Given the description of an element on the screen output the (x, y) to click on. 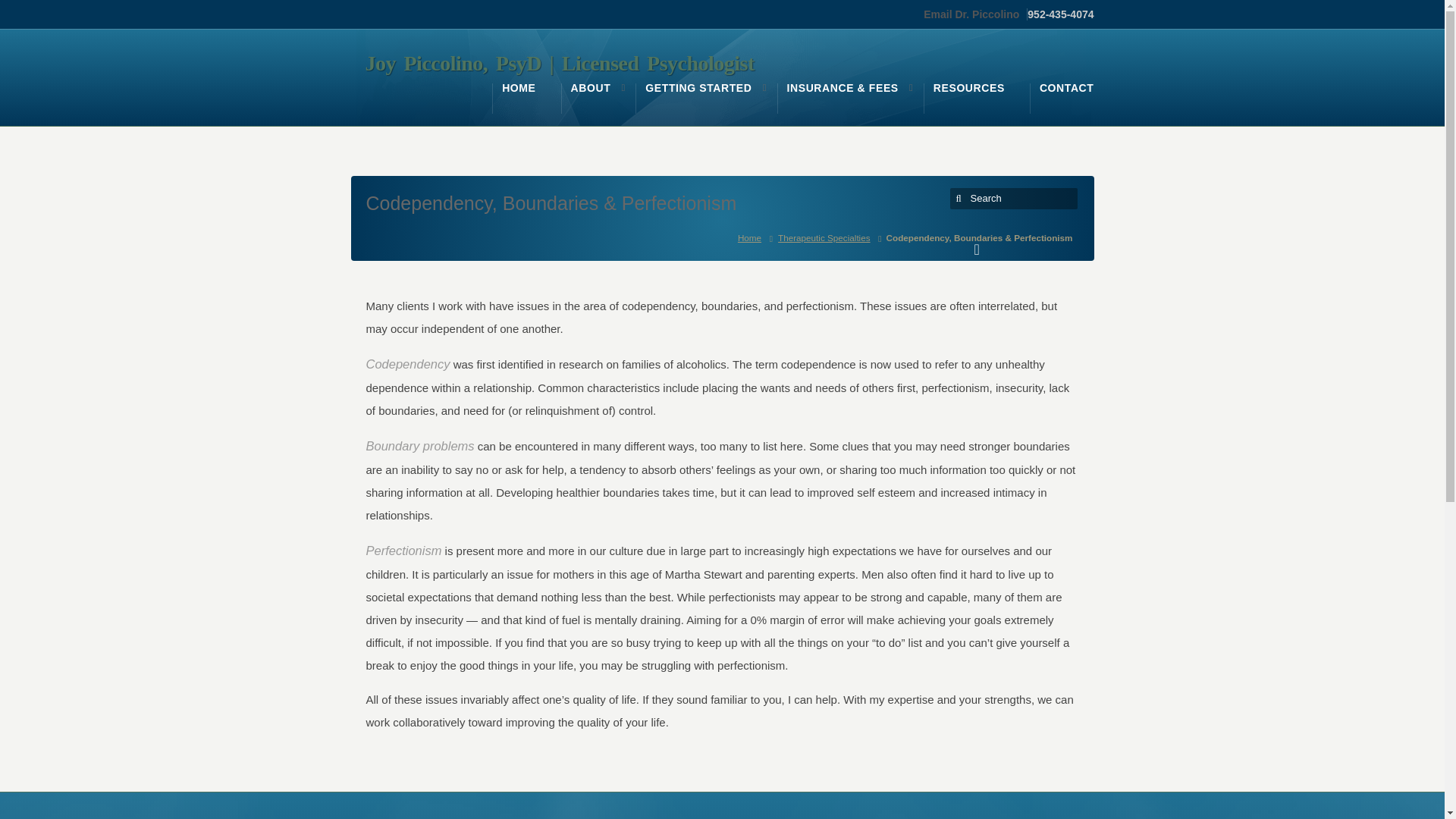
HOME (518, 87)
CONTACT (1066, 87)
Email Dr. Piccolino (975, 14)
Search (1016, 197)
Therapeutic Specialties (827, 237)
RESOURCES (968, 87)
GETTING STARTED (698, 87)
Home (752, 237)
ABOUT (590, 87)
